Given the description of an element on the screen output the (x, y) to click on. 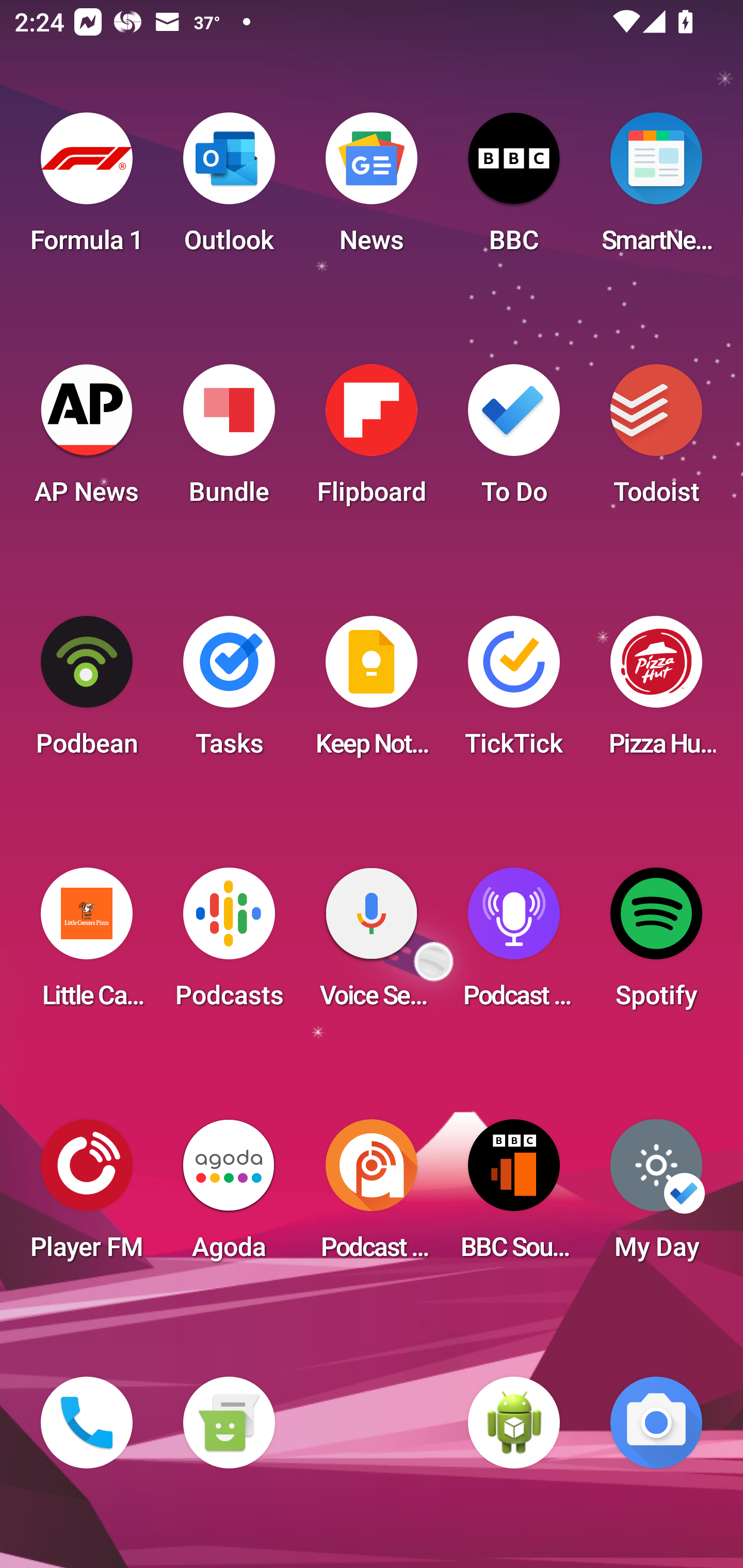
Formula 1 (86, 188)
Outlook (228, 188)
News (371, 188)
BBC (513, 188)
SmartNews (656, 188)
AP News (86, 440)
Bundle (228, 440)
Flipboard (371, 440)
To Do (513, 440)
Todoist (656, 440)
Podbean (86, 692)
Tasks (228, 692)
Keep Notes (371, 692)
TickTick (513, 692)
Pizza Hut HK & Macau (656, 692)
Little Caesars Pizza (86, 943)
Podcasts (228, 943)
Voice Search (371, 943)
Podcast Player (513, 943)
Spotify (656, 943)
Player FM (86, 1195)
Agoda (228, 1195)
Podcast Addict (371, 1195)
BBC Sounds (513, 1195)
My Day (656, 1195)
Phone (86, 1422)
Messaging (228, 1422)
WebView Browser Tester (513, 1422)
Camera (656, 1422)
